Given the description of an element on the screen output the (x, y) to click on. 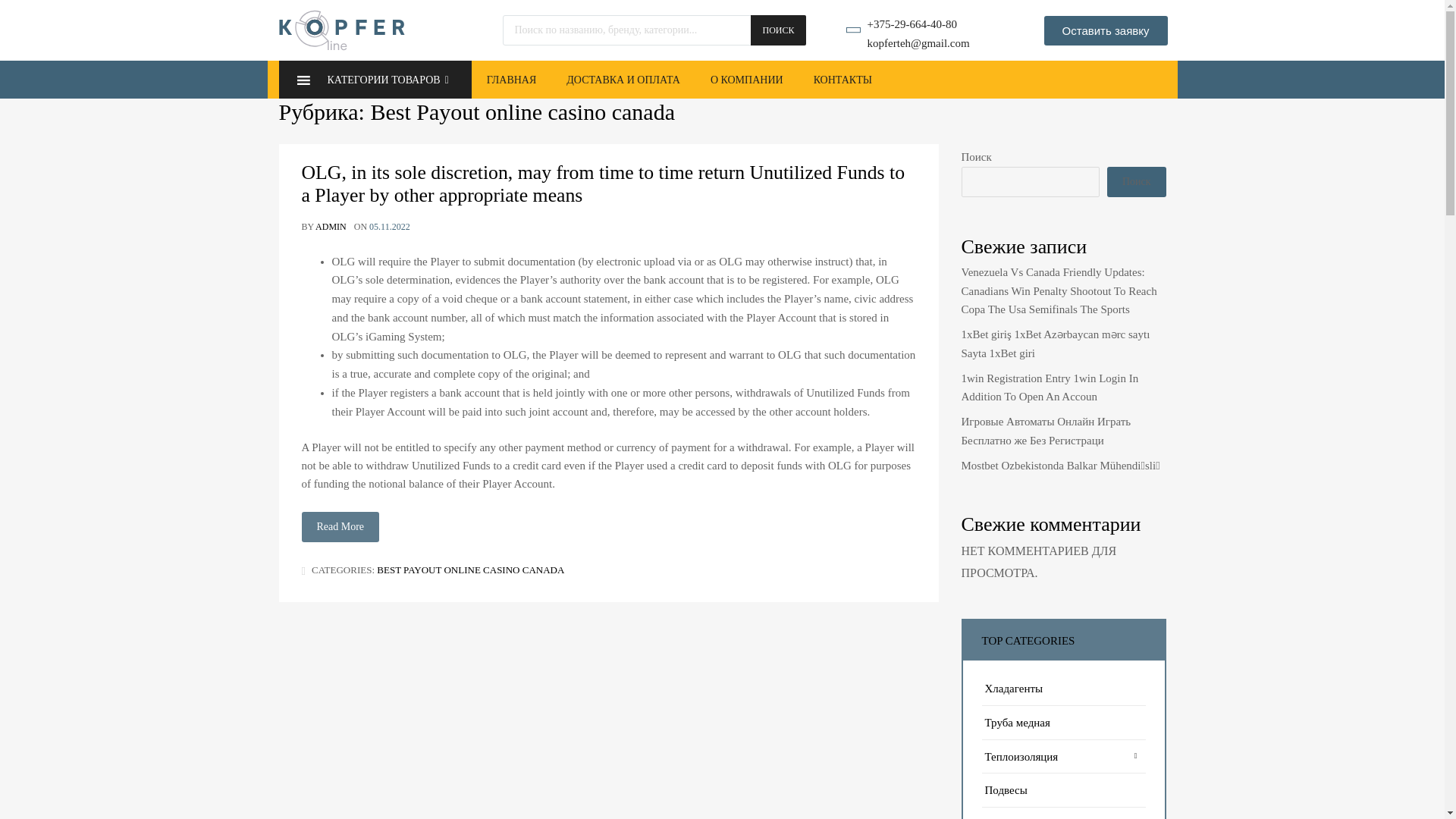
View all posts by admin (330, 226)
BEST PAYOUT ONLINE CASINO CANADA (470, 569)
Read More (340, 526)
ADMIN (330, 226)
